Given the description of an element on the screen output the (x, y) to click on. 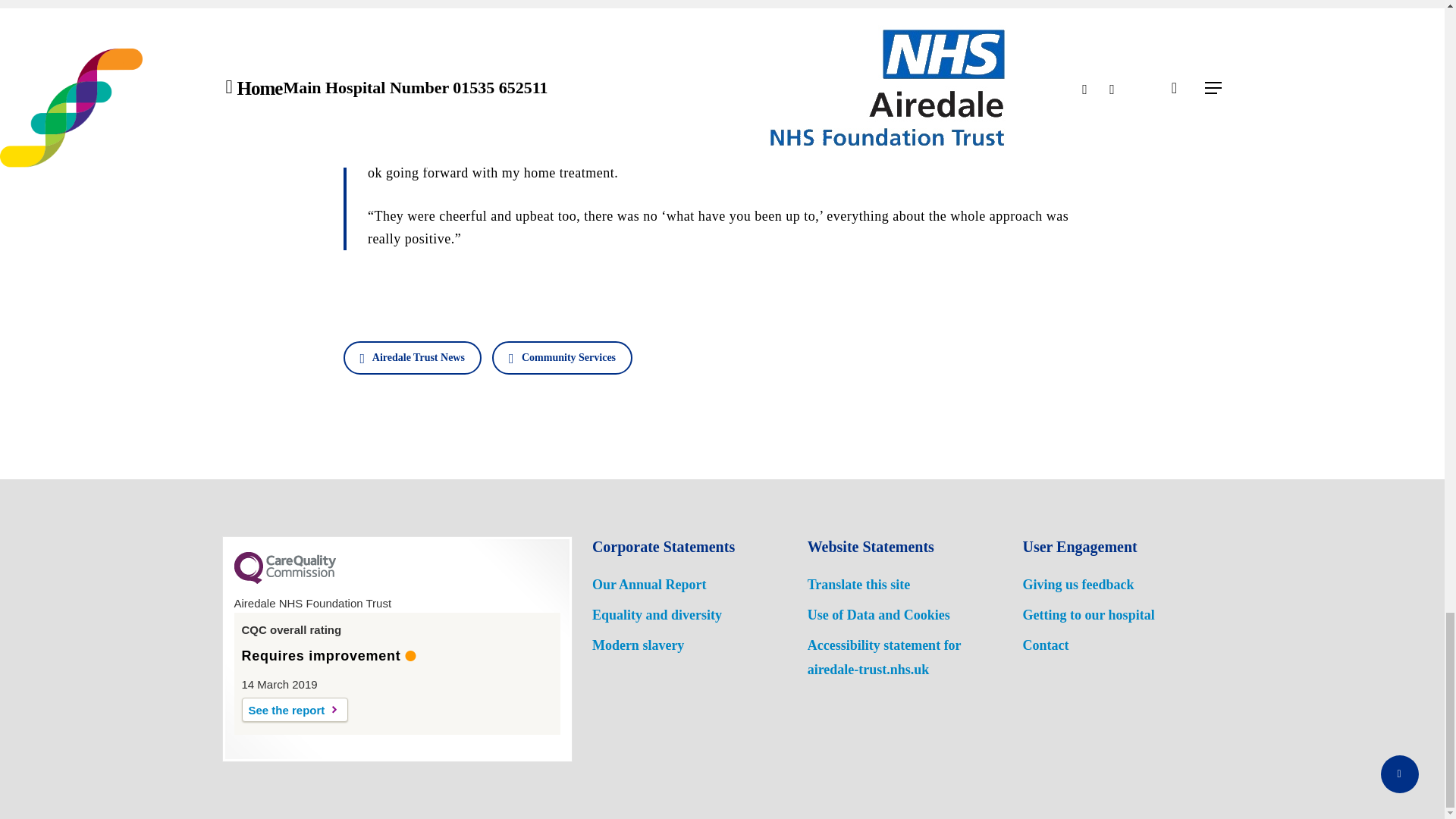
See the report (294, 708)
Contact (1045, 645)
Equality and diversity (657, 614)
Airedale Trust News (411, 356)
Translate this site (859, 584)
Modern slavery (638, 645)
CQC Logo (283, 580)
Community Services (561, 356)
Getting to our hospital (1088, 614)
Use of Data and Cookies (879, 614)
